Given the description of an element on the screen output the (x, y) to click on. 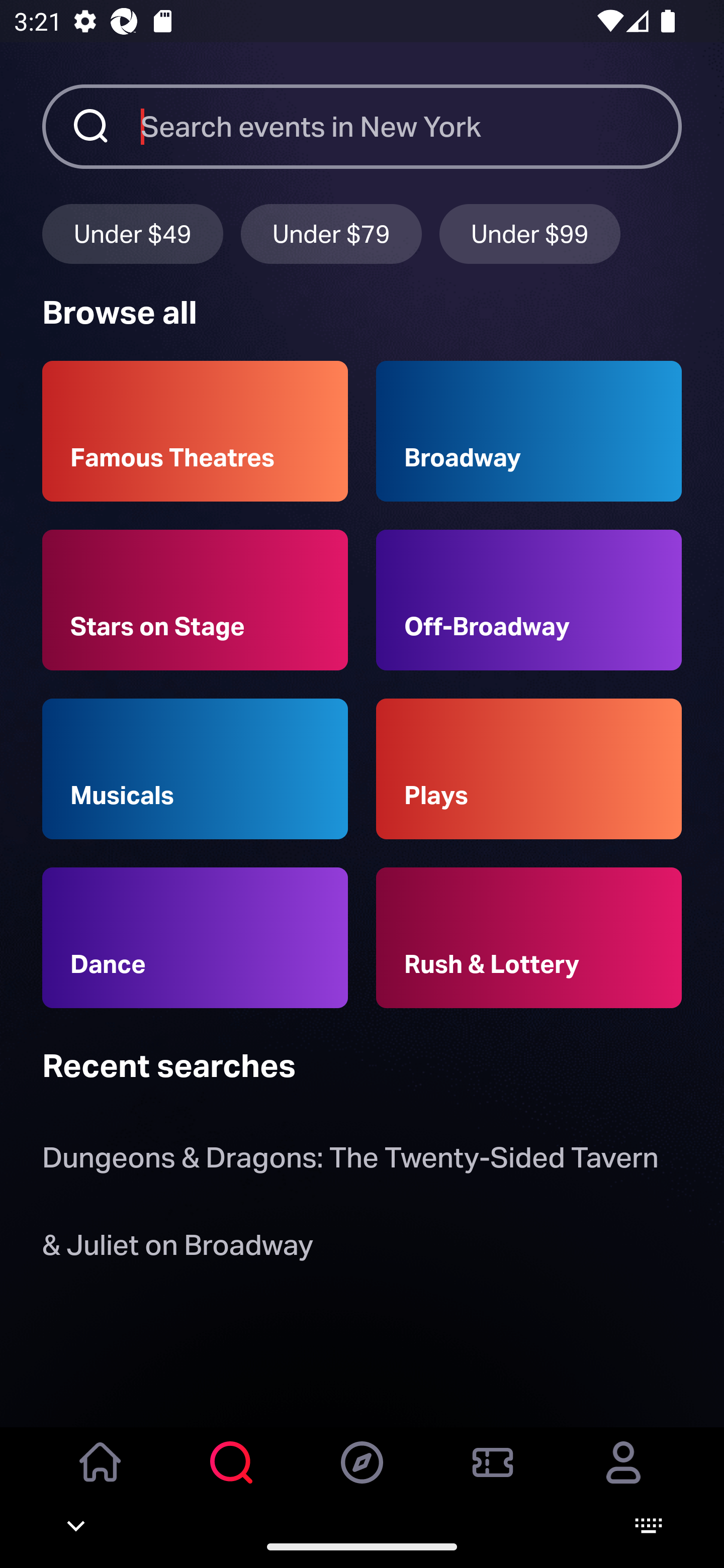
Search events in New York (411, 126)
Under $49 (131, 233)
Under $79 (331, 233)
Under $99 (529, 233)
Famous Theatres (194, 430)
Broadway (528, 430)
Stars on Stage (194, 600)
Off-Broadway (528, 600)
Musicals (194, 768)
Plays (528, 768)
Dance (194, 937)
Rush & Lottery (528, 937)
Dungeons & Dragons: The Twenty-Sided Tavern (349, 1161)
& Juliet on Broadway  (180, 1248)
Home (100, 1475)
Discover (361, 1475)
Orders (492, 1475)
Account (623, 1475)
